Given the description of an element on the screen output the (x, y) to click on. 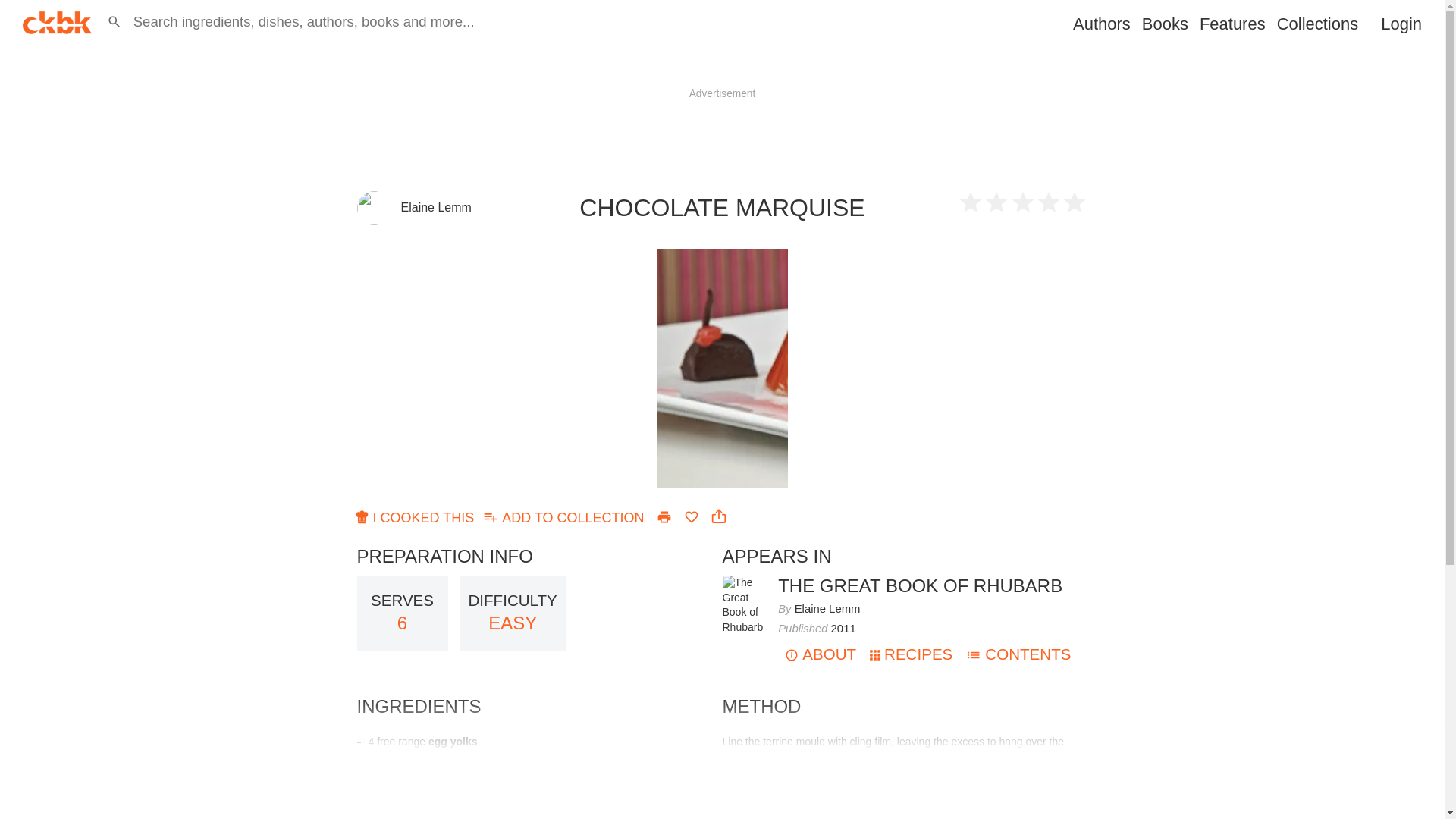
Authors (1102, 24)
Recipes in this book (564, 516)
THE GREAT BOOK OF RHUBARB (911, 653)
Print (919, 585)
About this book (664, 516)
search (919, 585)
About this book (16, 7)
About this book (742, 582)
I COOKED THIS (820, 653)
